Given the description of an element on the screen output the (x, y) to click on. 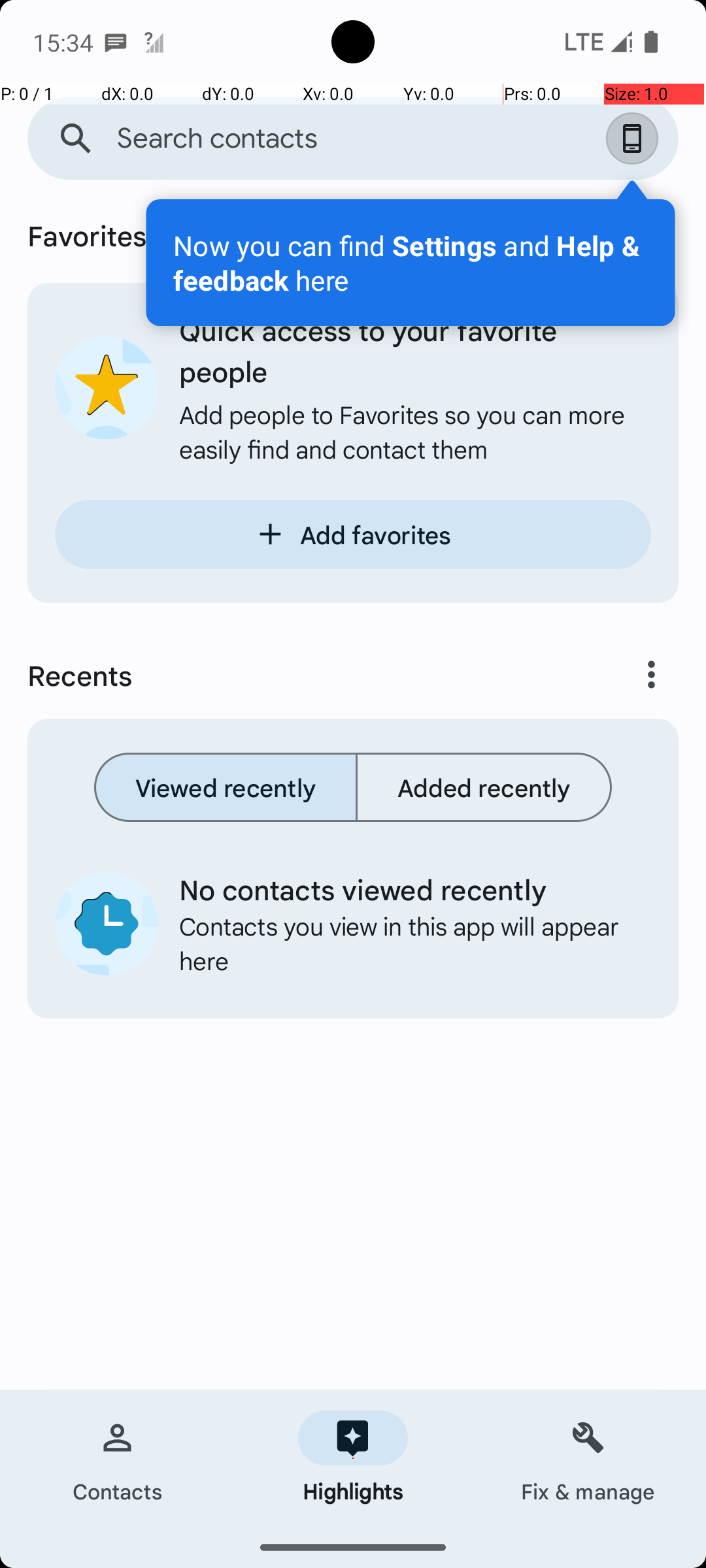
Quick access to your favorite people Element type: android.widget.TextView (415, 350)
Add people to Favorites so you can more easily find and contact them Element type: android.widget.TextView (415, 431)
Add favorites Element type: android.widget.Button (352, 534)
Recents Element type: android.widget.TextView (298, 674)
No contacts viewed recently Element type: android.widget.TextView (404, 888)
Contacts you view in this app will appear here Element type: android.widget.TextView (404, 942)
Viewed recently Element type: android.widget.CompoundButton (225, 787)
Added recently Element type: android.widget.CompoundButton (483, 787)
Now you can find Settings and Help & feedback here
Open account and settings. Element type: android.view.ViewGroup (409, 262)
